Given the description of an element on the screen output the (x, y) to click on. 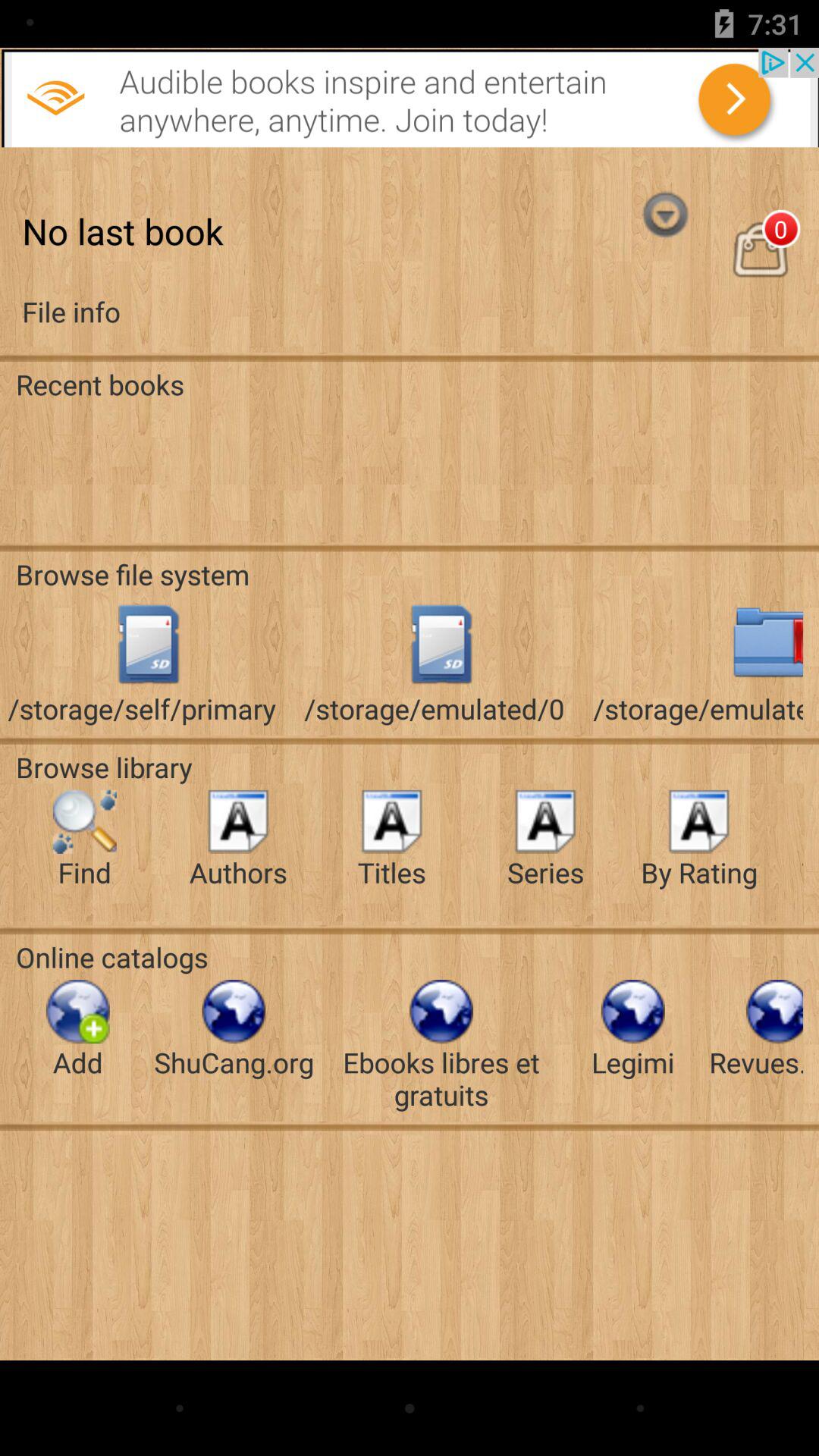
adverstment button link (409, 97)
